Given the description of an element on the screen output the (x, y) to click on. 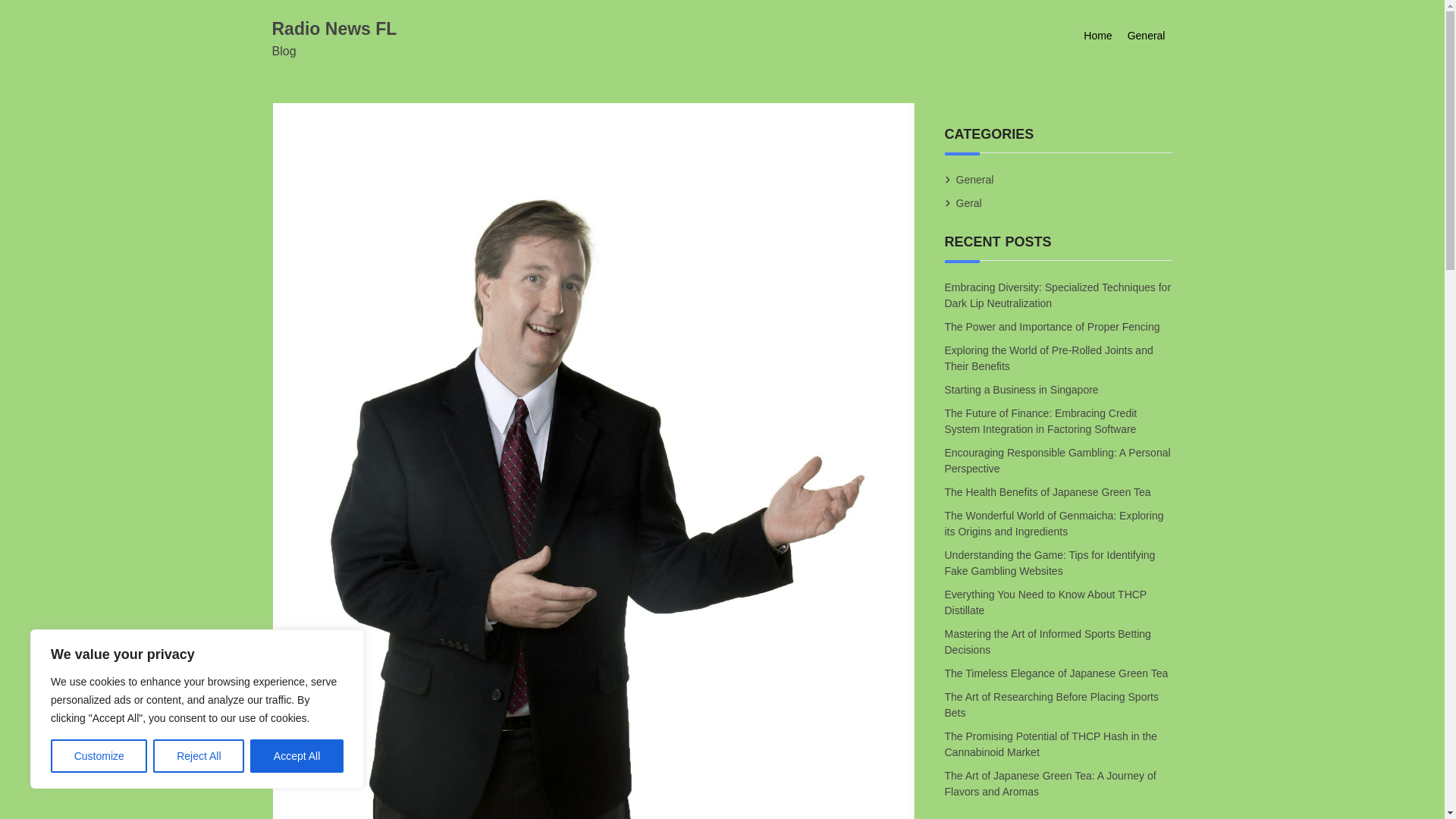
Geral (968, 203)
General (1146, 35)
Home (1097, 35)
Encouraging Responsible Gambling: A Personal Perspective (1057, 460)
Radio News FL (333, 28)
Customize (98, 756)
The Health Benefits of Japanese Green Tea (1048, 491)
Exploring the World of Pre-Rolled Joints and Their Benefits (1048, 358)
Reject All (198, 756)
The Power and Importance of Proper Fencing (1052, 326)
Starting a Business in Singapore (1022, 390)
Accept All (296, 756)
General (974, 179)
